Given the description of an element on the screen output the (x, y) to click on. 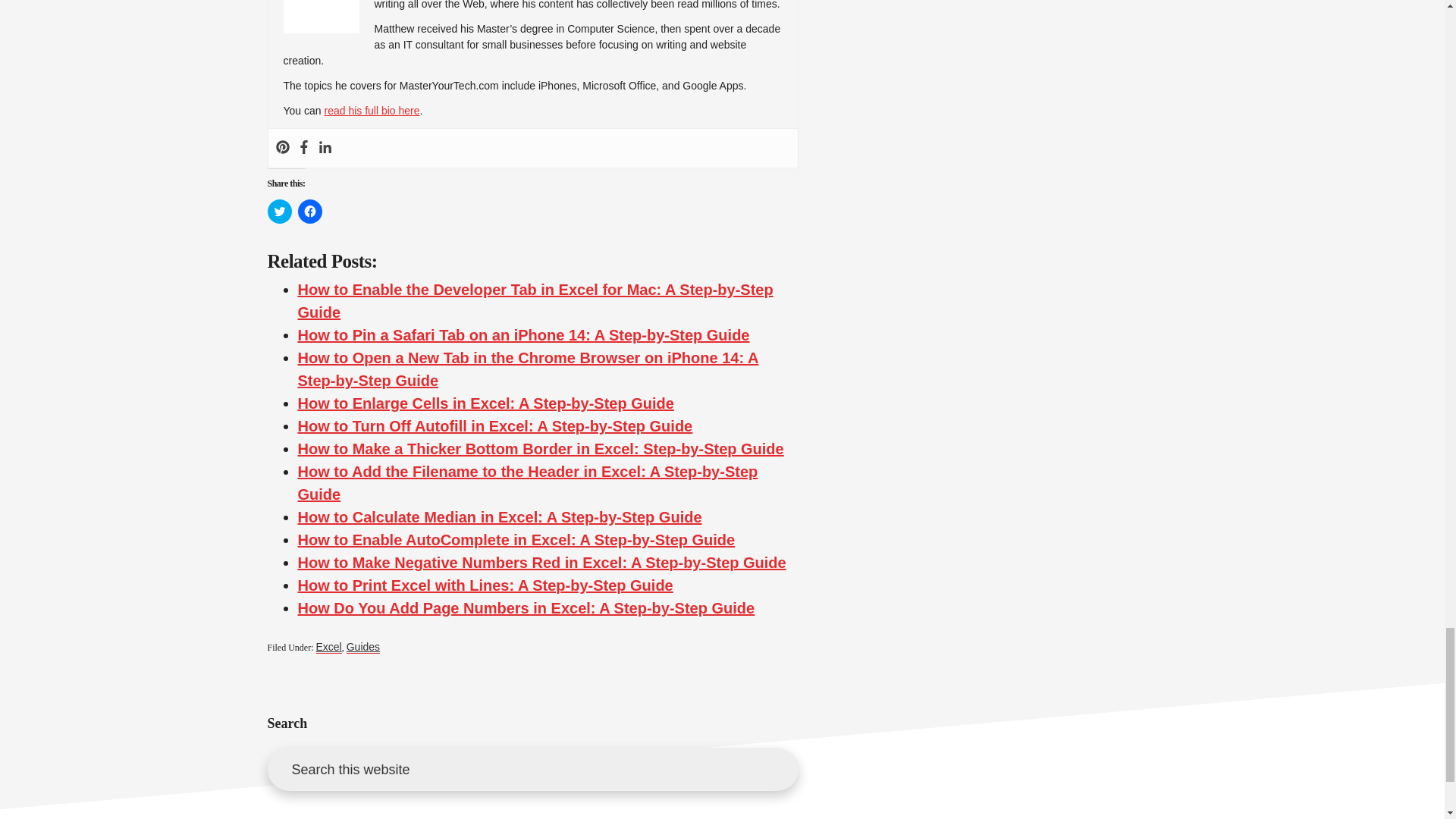
Guides (363, 646)
read his full bio here (371, 110)
How to Print Excel with Lines: A Step-by-Step Guide (484, 585)
How to Turn Off Autofill in Excel: A Step-by-Step Guide (495, 425)
How to Calculate Median in Excel: A Step-by-Step Guide (499, 516)
How to Enlarge Cells in Excel: A Step-by-Step Guide (484, 402)
Excel (327, 646)
How Do You Add Page Numbers in Excel: A Step-by-Step Guide (525, 607)
